Given the description of an element on the screen output the (x, y) to click on. 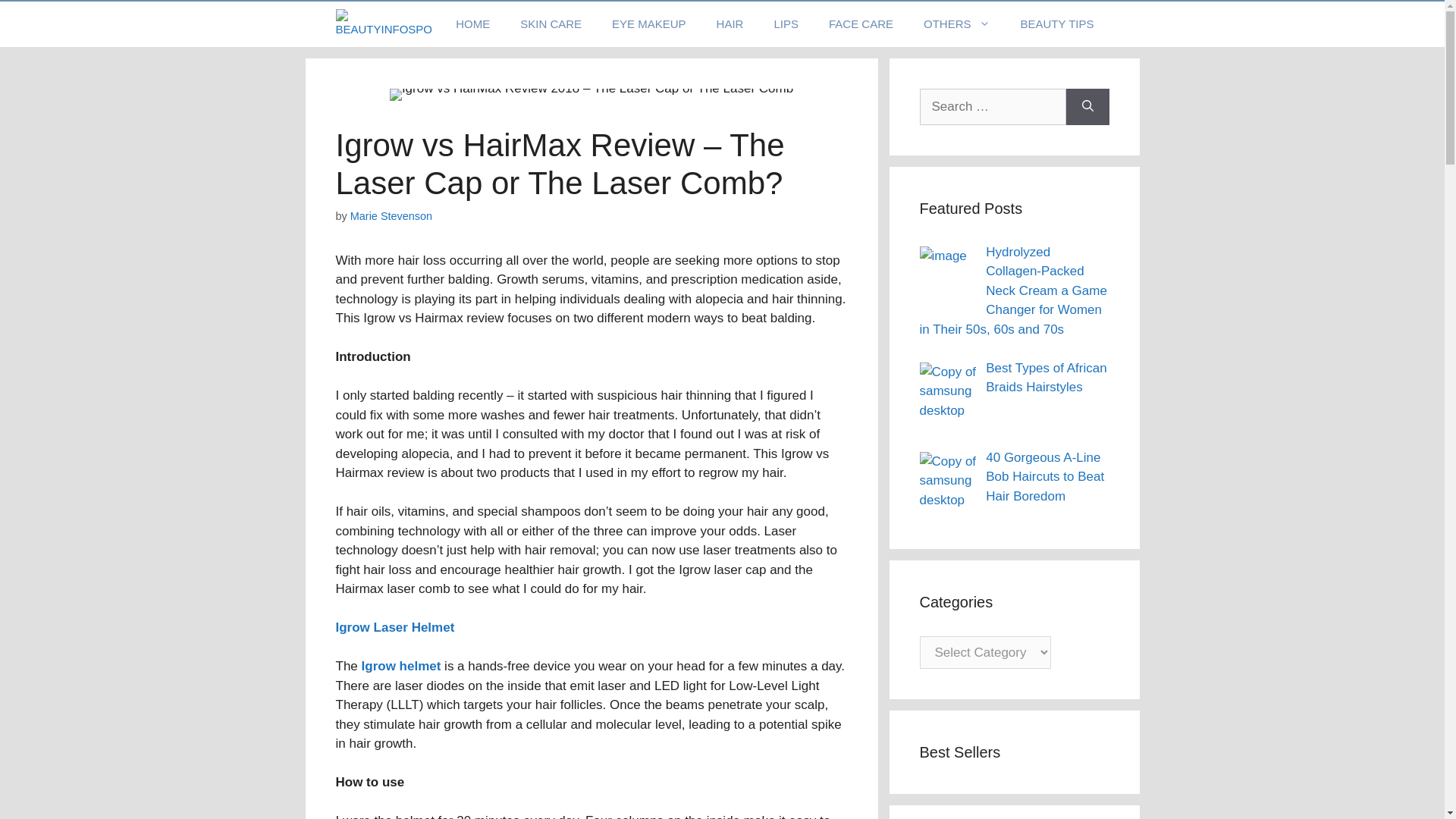
40 Gorgeous A-Line Bob Haircuts to Beat Hair Boredom (1044, 476)
BEAUTY TIPS (1057, 23)
OTHERS (957, 23)
Best Types of African Braids Hairstyles (1045, 377)
beautyinfospot (382, 23)
FACE CARE (860, 23)
HAIR (729, 23)
40 Gorgeous A-Line Bob Haircuts to Beat Hair Boredom 4 (946, 480)
Igrow Laser Helmet (394, 626)
Igrow helmet (401, 666)
View all posts by Marie Stevenson (391, 215)
Best Types of African Braids Hairstyles 3 (946, 390)
Search for: (991, 106)
